Given the description of an element on the screen output the (x, y) to click on. 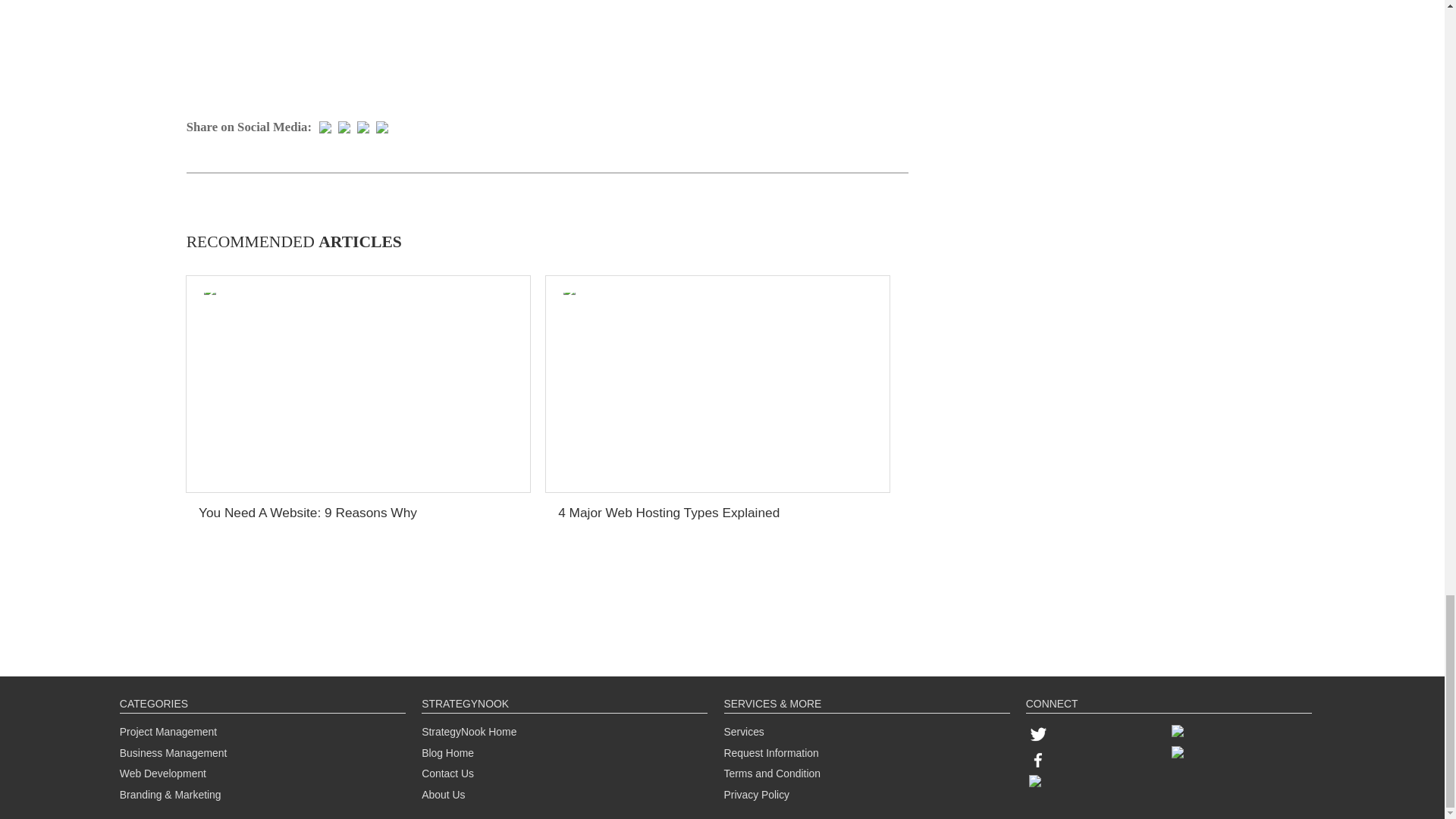
You Need A Website: 9 Reasons Why (307, 512)
4 Major Web Hosting Types Explained (667, 512)
